Given the description of an element on the screen output the (x, y) to click on. 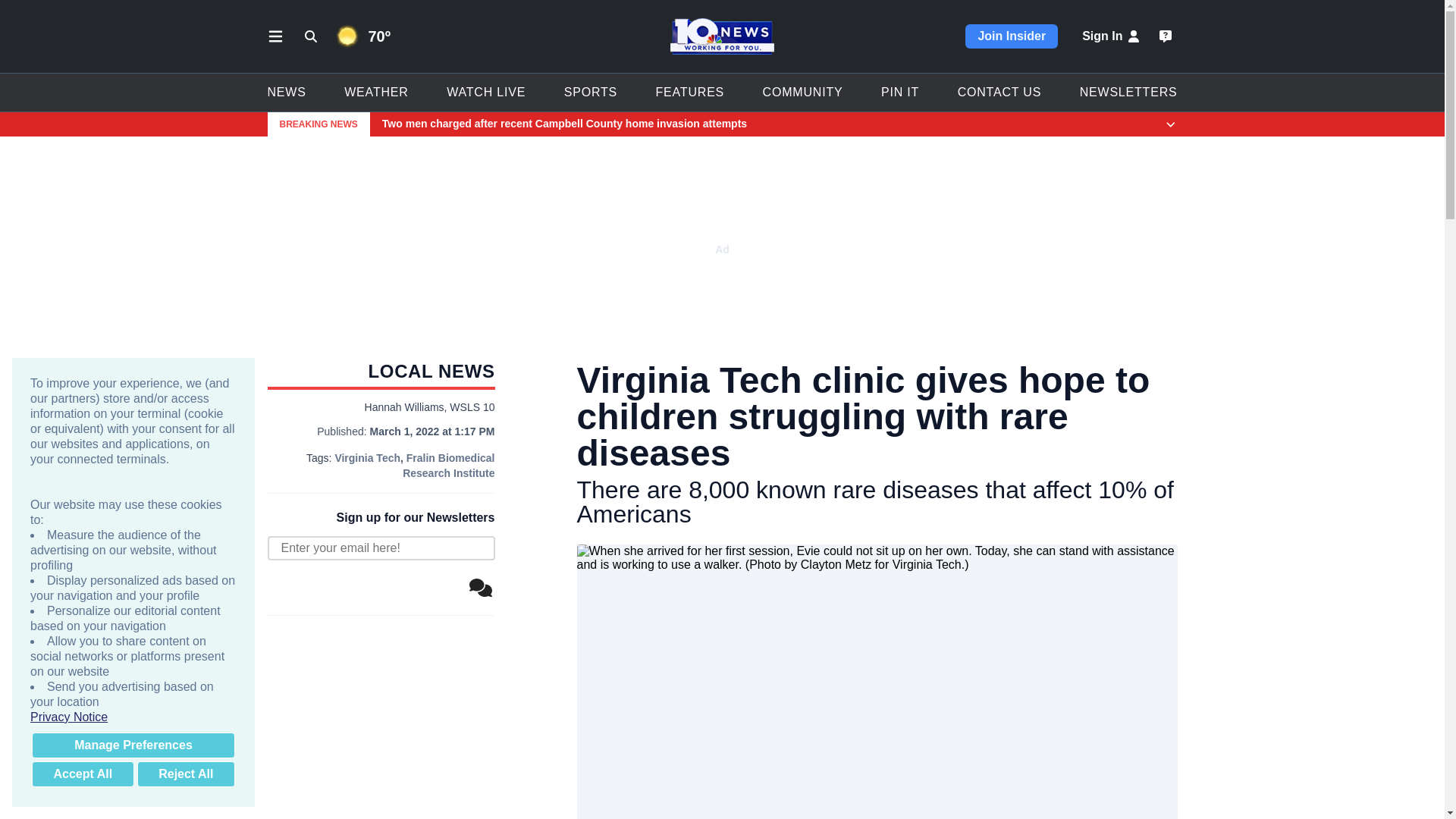
Manage Preferences (133, 745)
Sign In (1111, 36)
Accept All (82, 774)
Join Insider (1011, 36)
Reject All (185, 774)
Privacy Notice (132, 717)
